Given the description of an element on the screen output the (x, y) to click on. 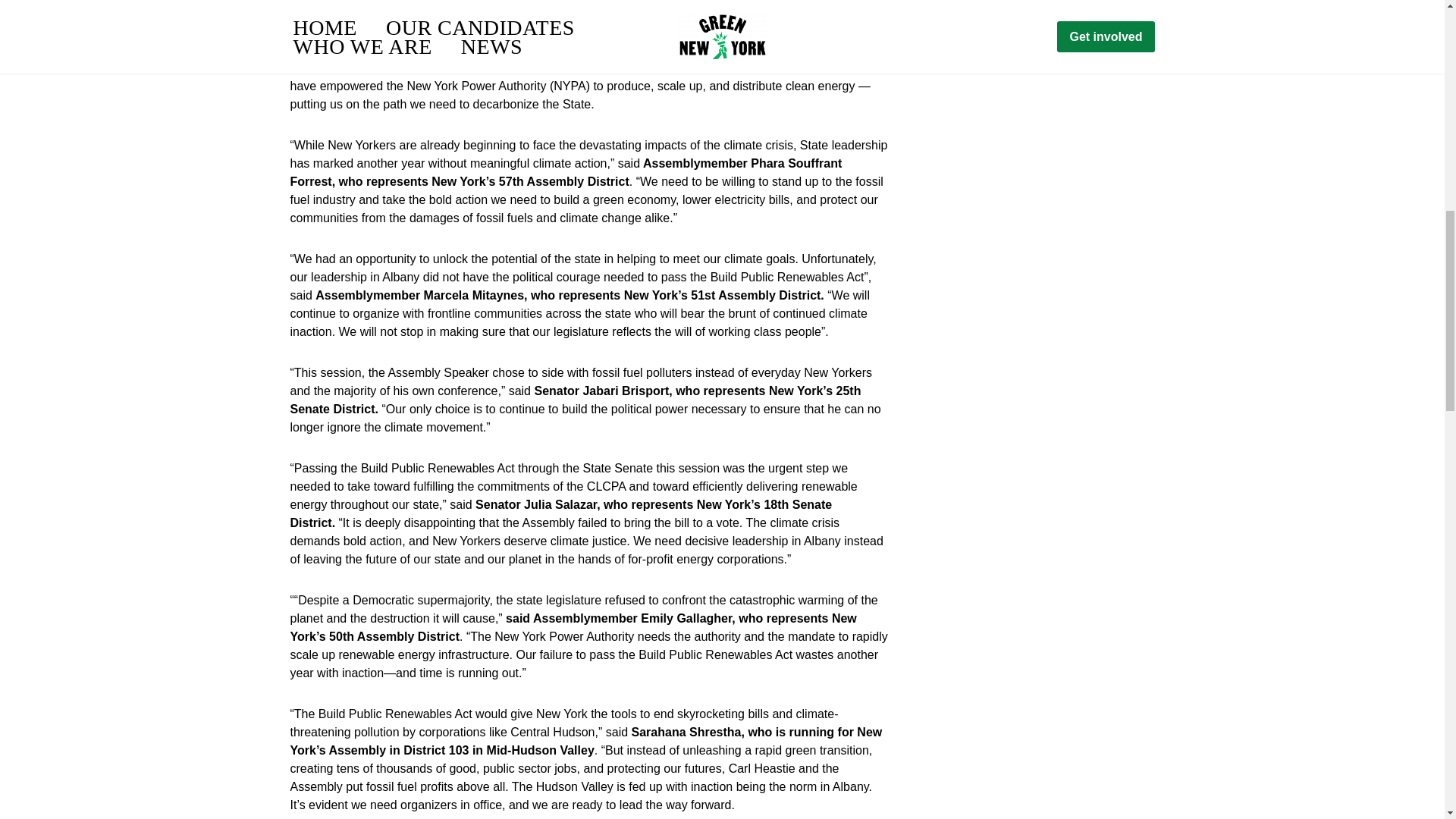
largest source of energy (567, 40)
requires (749, 49)
